Given the description of an element on the screen output the (x, y) to click on. 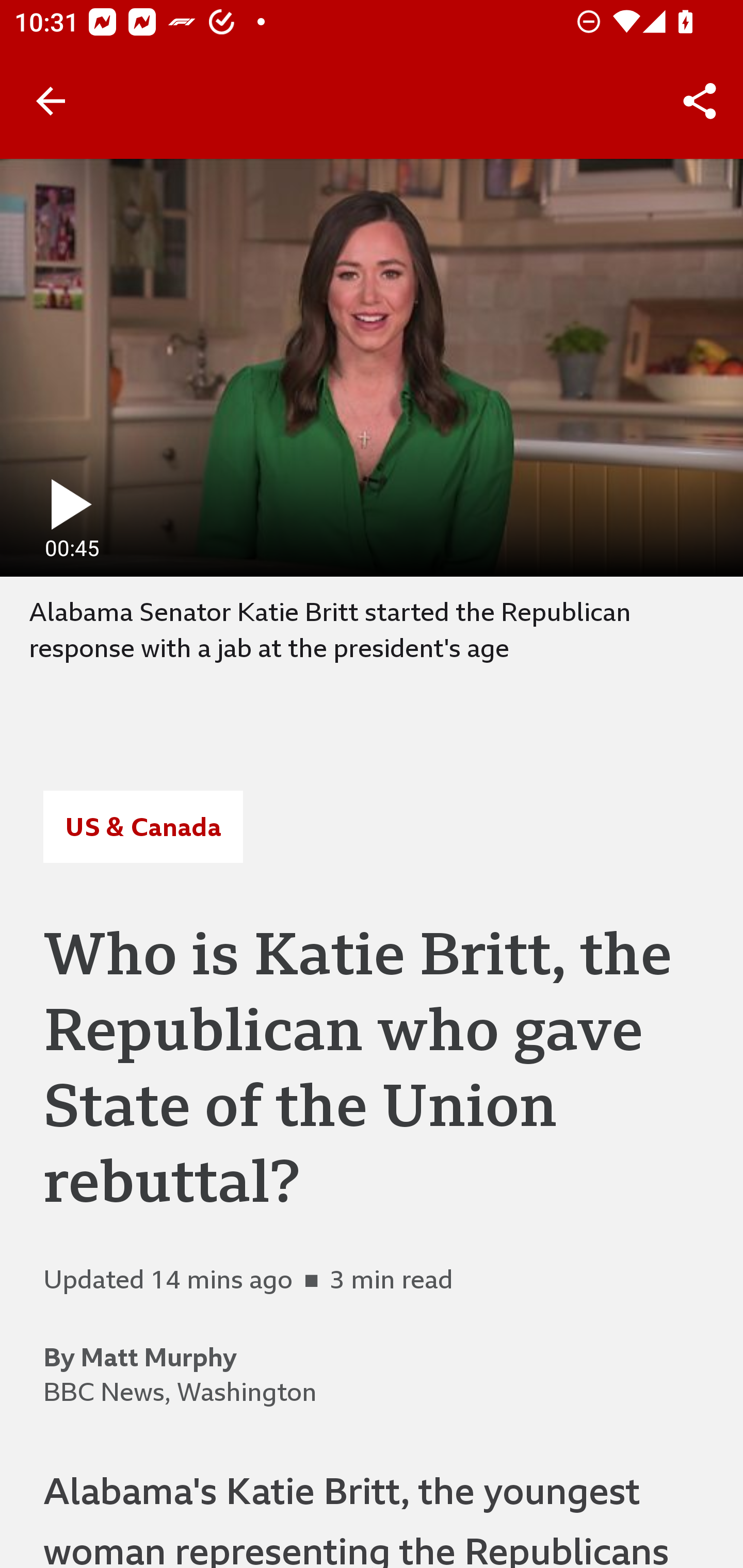
Back (50, 101)
Share (699, 101)
play fullscreen 00:45 0 minutes, 45 seconds (371, 367)
US & Canada (142, 827)
